Given the description of an element on the screen output the (x, y) to click on. 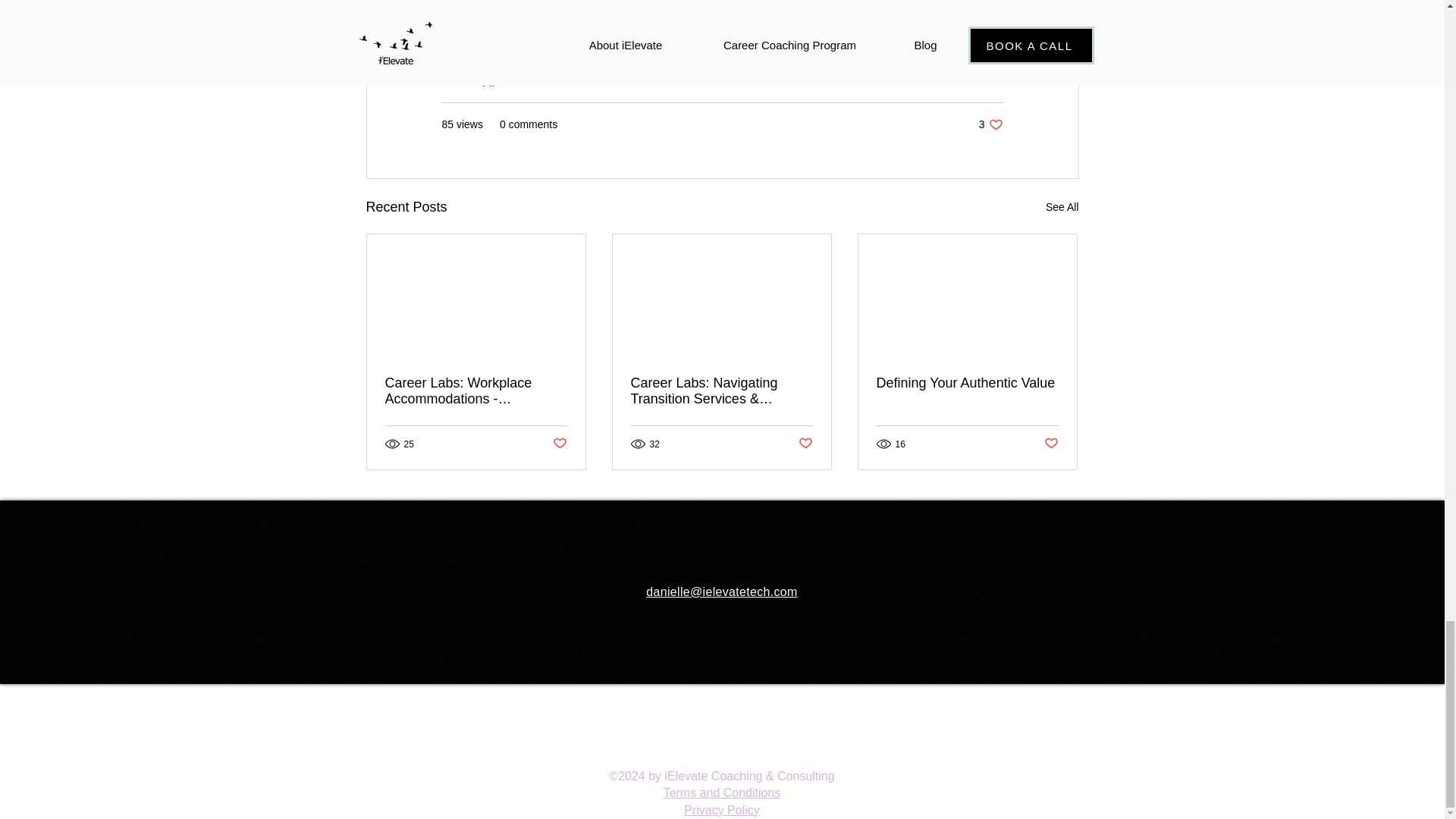
See All (1061, 207)
adult (740, 2)
teen (531, 21)
teenager (855, 2)
money (639, 2)
ADLs (914, 2)
independent (596, 21)
cook (692, 2)
adulthood (532, 2)
parenting (473, 21)
Post not marked as liked (804, 443)
parent (793, 2)
life skill (668, 21)
Life Skills (734, 21)
